Given the description of an element on the screen output the (x, y) to click on. 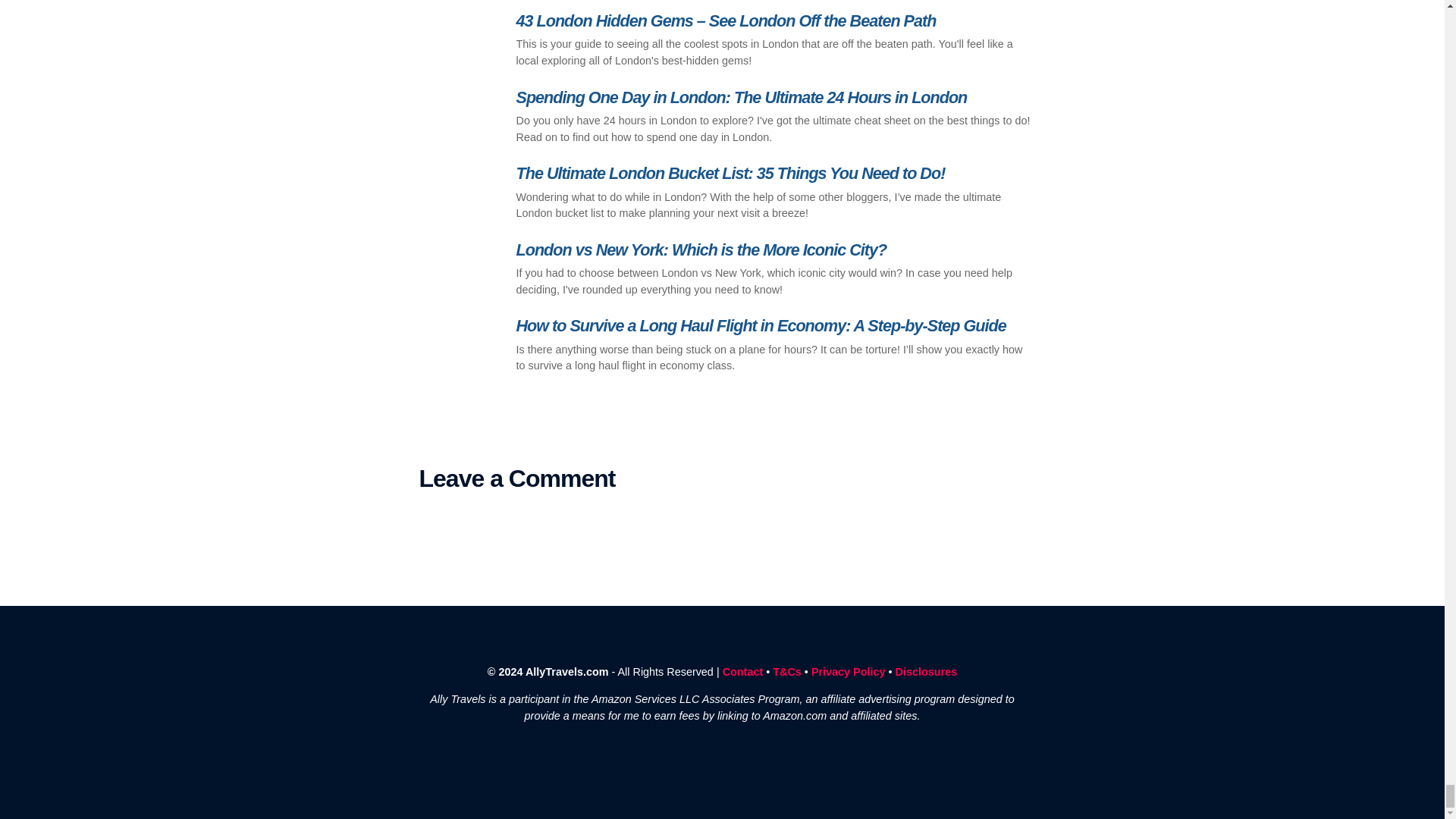
Contact (742, 671)
Privacy Policy (847, 671)
Disclosures (926, 671)
